Given the description of an element on the screen output the (x, y) to click on. 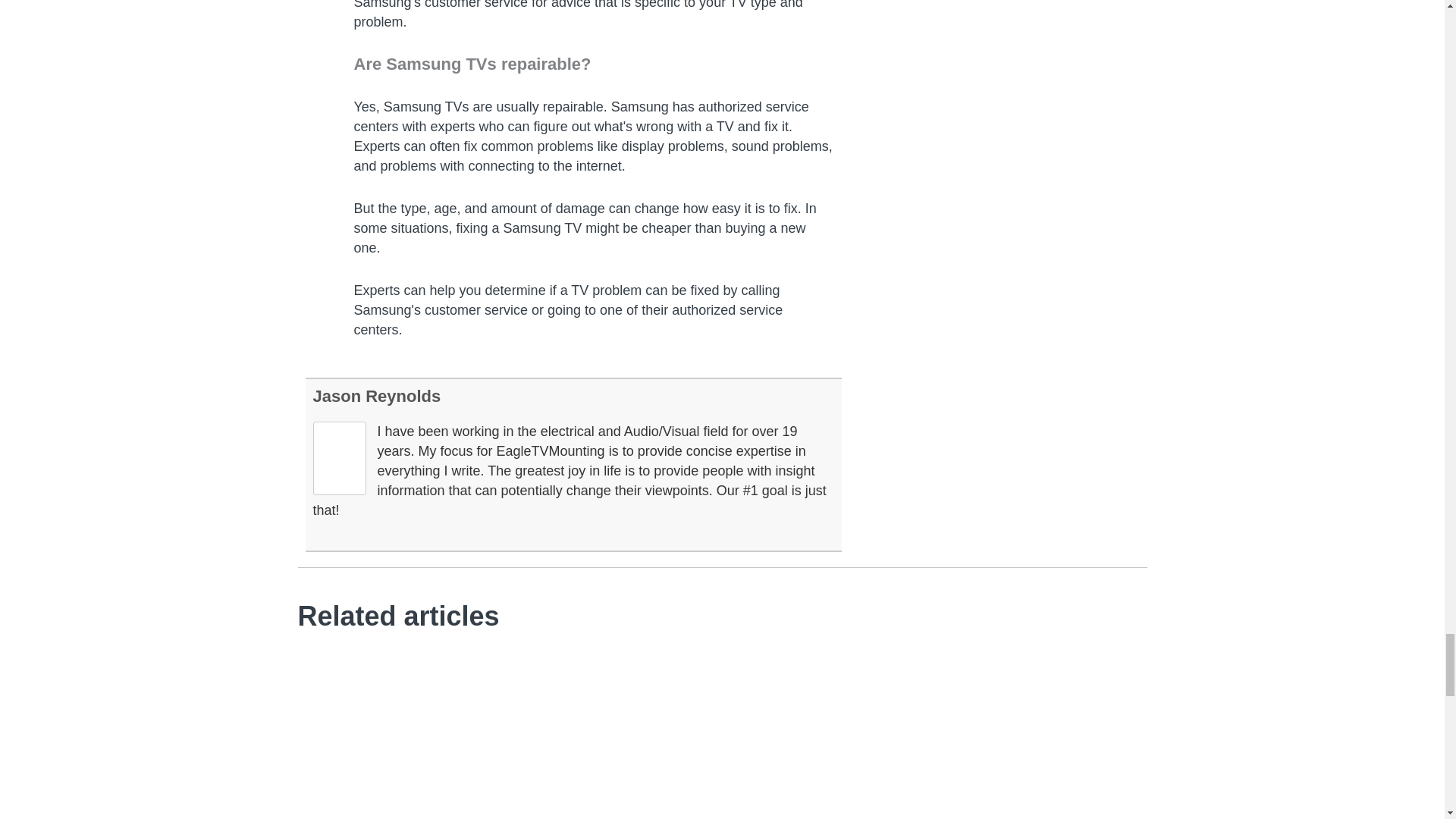
Hisense VS Samsung TV (422, 733)
All posts by Jason Reynolds (377, 395)
Jason Reynolds (377, 395)
